Given the description of an element on the screen output the (x, y) to click on. 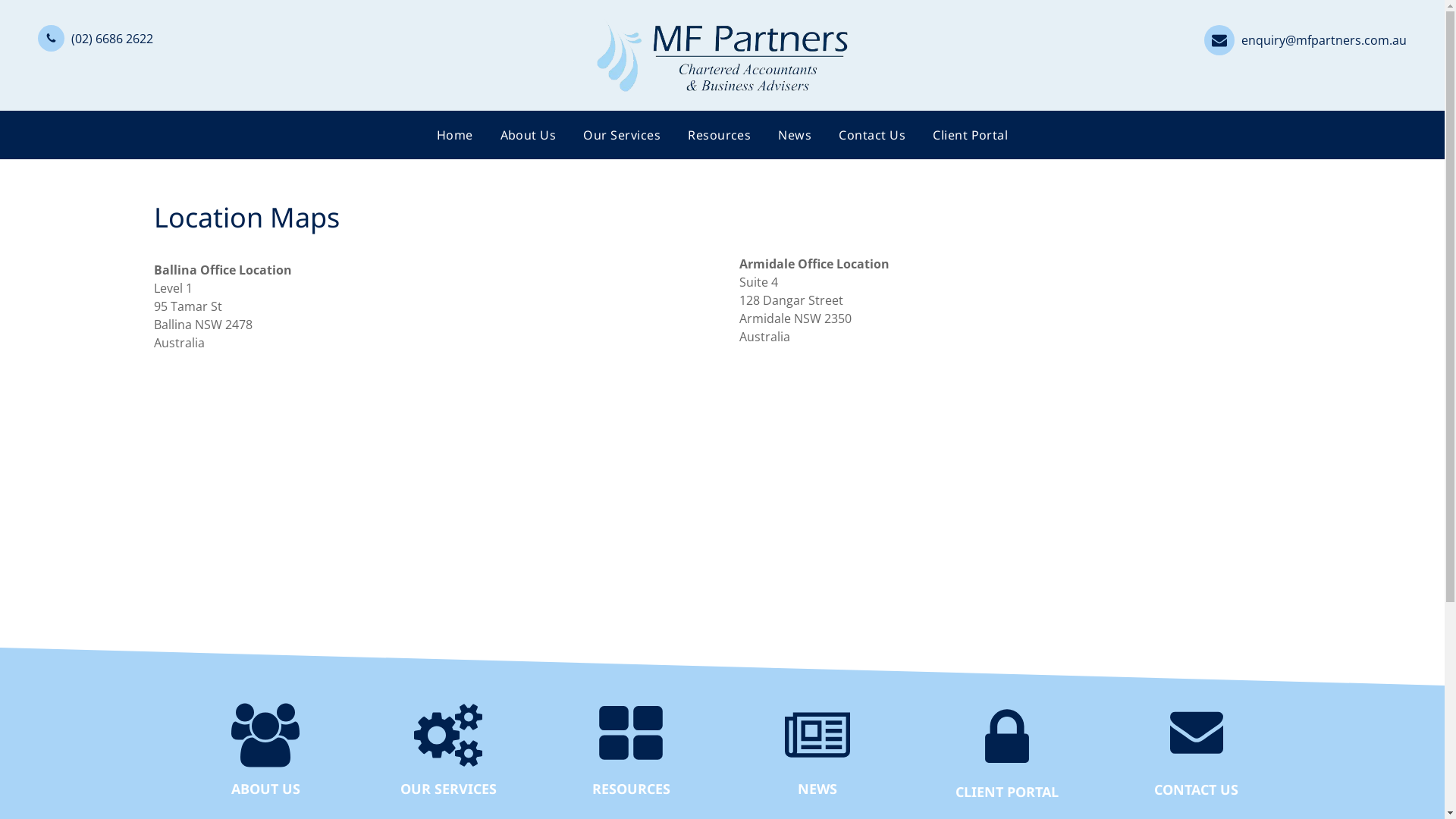
Resources Element type: text (719, 134)
(02) 6686 2622 Element type: text (95, 36)
OUR SERVICES Element type: text (448, 787)
RESOURCES Element type: text (630, 787)
Contact Us Element type: text (872, 134)
enquiry@mfpartners.com.au Element type: text (1305, 38)
About Us Element type: text (528, 134)
News Element type: text (794, 134)
CLIENT PORTAL Element type: text (1005, 790)
Home Element type: text (454, 134)
NEWS Element type: text (816, 787)
Client Portal Element type: text (970, 134)
CONTACT US Element type: text (1196, 788)
ABOUT US Element type: text (265, 787)
MF Partners Chartered Accountants Element type: hover (721, 54)
Our Services Element type: text (621, 134)
